Given the description of an element on the screen output the (x, y) to click on. 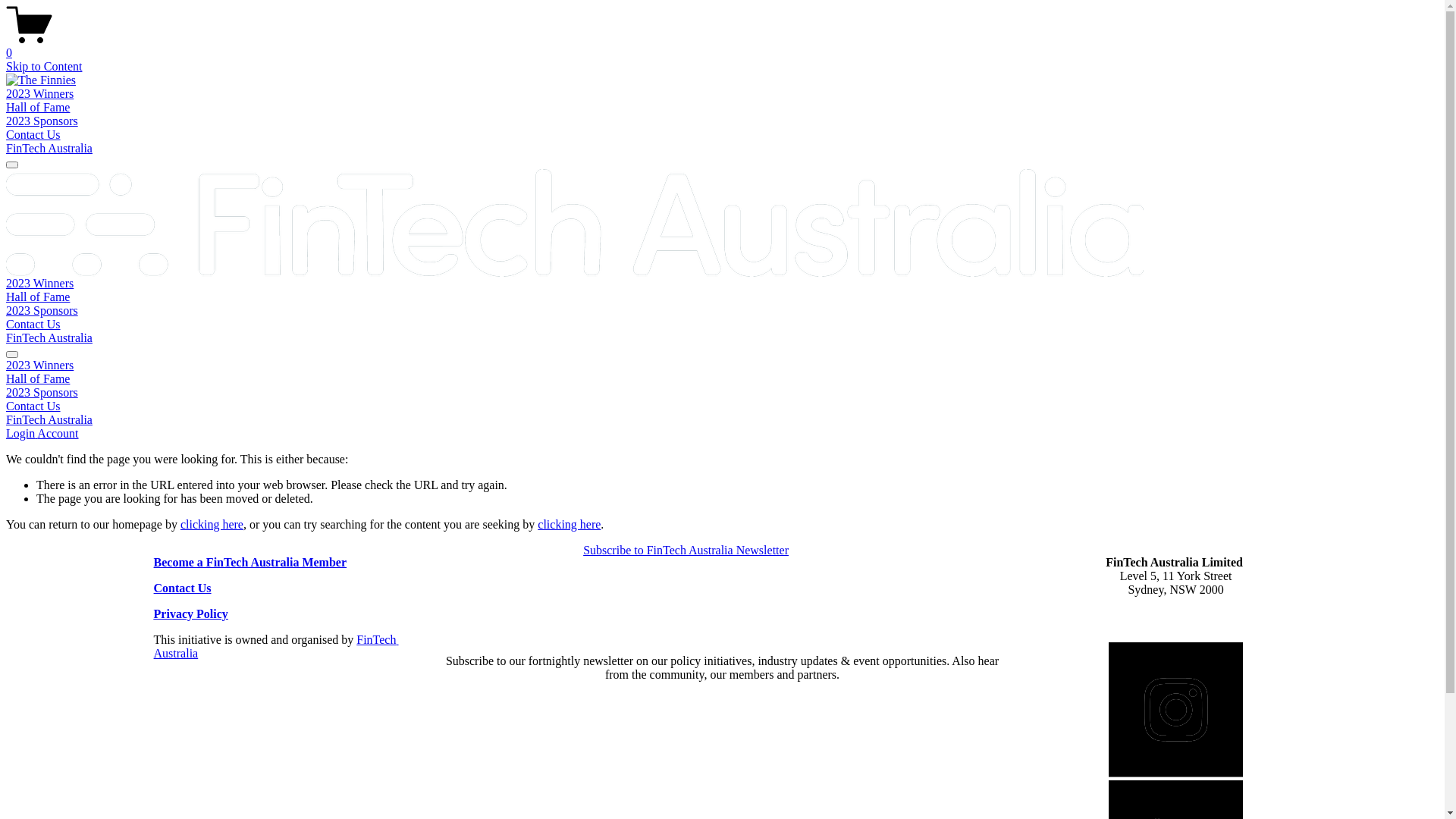
Privacy Policy Element type: text (190, 613)
Subscribe to FinTech Australia Newsletter Element type: text (685, 549)
2023 Winners Element type: text (39, 93)
Hall of Fame Element type: text (722, 378)
Become a FinTech Australia Member Element type: text (249, 561)
Hall of Fame Element type: text (37, 106)
2023 Winners Element type: text (39, 282)
FinTech Australia Element type: text (49, 337)
Contact Us Element type: text (182, 587)
Contact Us Element type: text (722, 406)
Skip to Content Element type: text (43, 65)
Contact Us Element type: text (33, 323)
Hall of Fame Element type: text (37, 296)
2023 Sponsors Element type: text (722, 392)
FinTech Australia Element type: text (49, 419)
Contact Us Element type: text (33, 134)
0 Element type: text (722, 45)
2023 Sponsors Element type: text (42, 120)
Login Account Element type: text (42, 432)
2023 Sponsors Element type: text (42, 310)
FinTech Australia Element type: text (275, 646)
FinTech Australia Element type: text (49, 147)
2023 Winners Element type: text (722, 365)
clicking here Element type: text (211, 523)
clicking here Element type: text (568, 523)
